Given the description of an element on the screen output the (x, y) to click on. 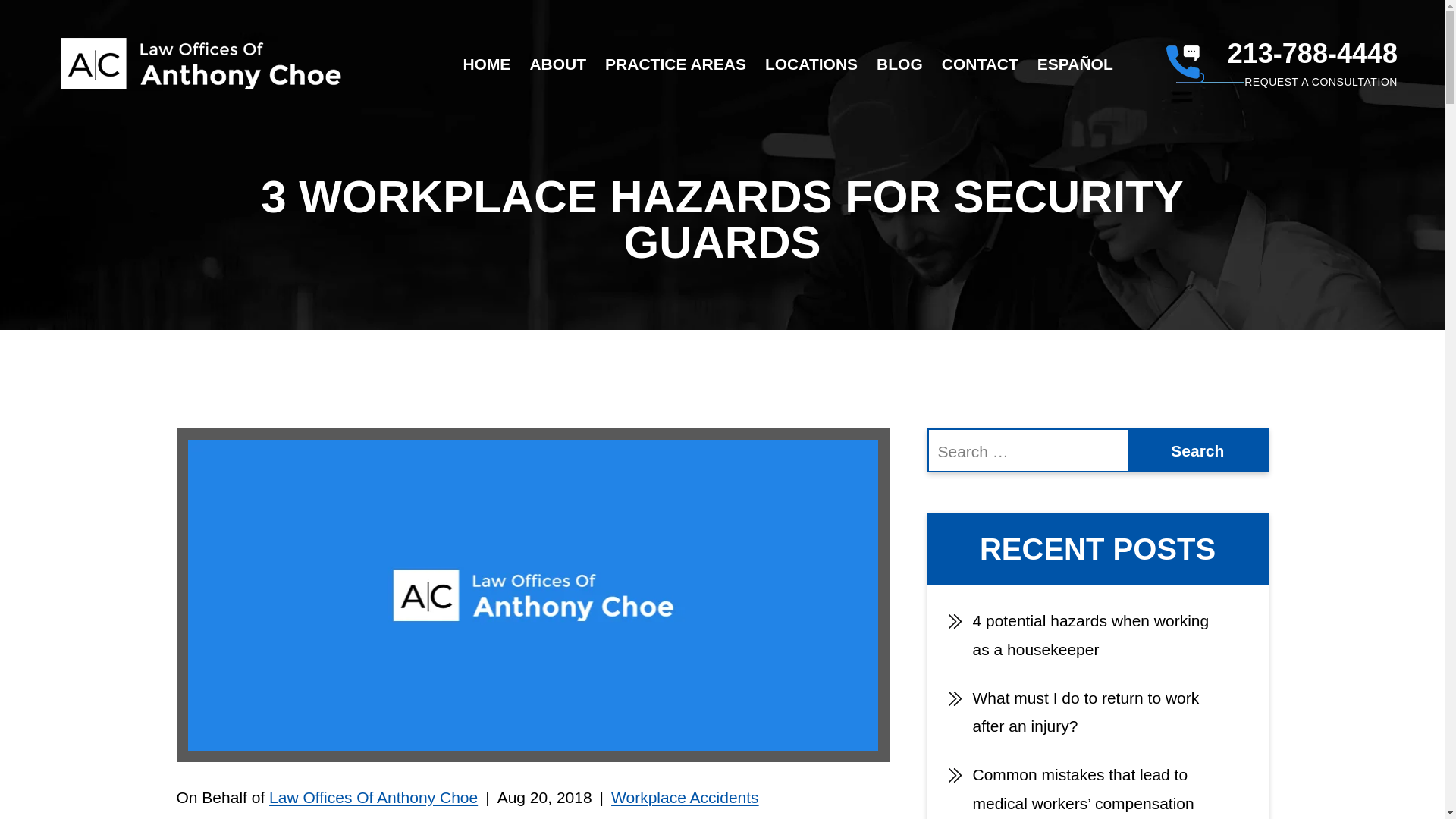
BLOG (899, 64)
HOME (487, 64)
Search (1197, 449)
CONTACT (979, 64)
PRACTICE AREAS (675, 64)
Search (1197, 449)
LOCATIONS (811, 64)
ABOUT (557, 64)
